Given the description of an element on the screen output the (x, y) to click on. 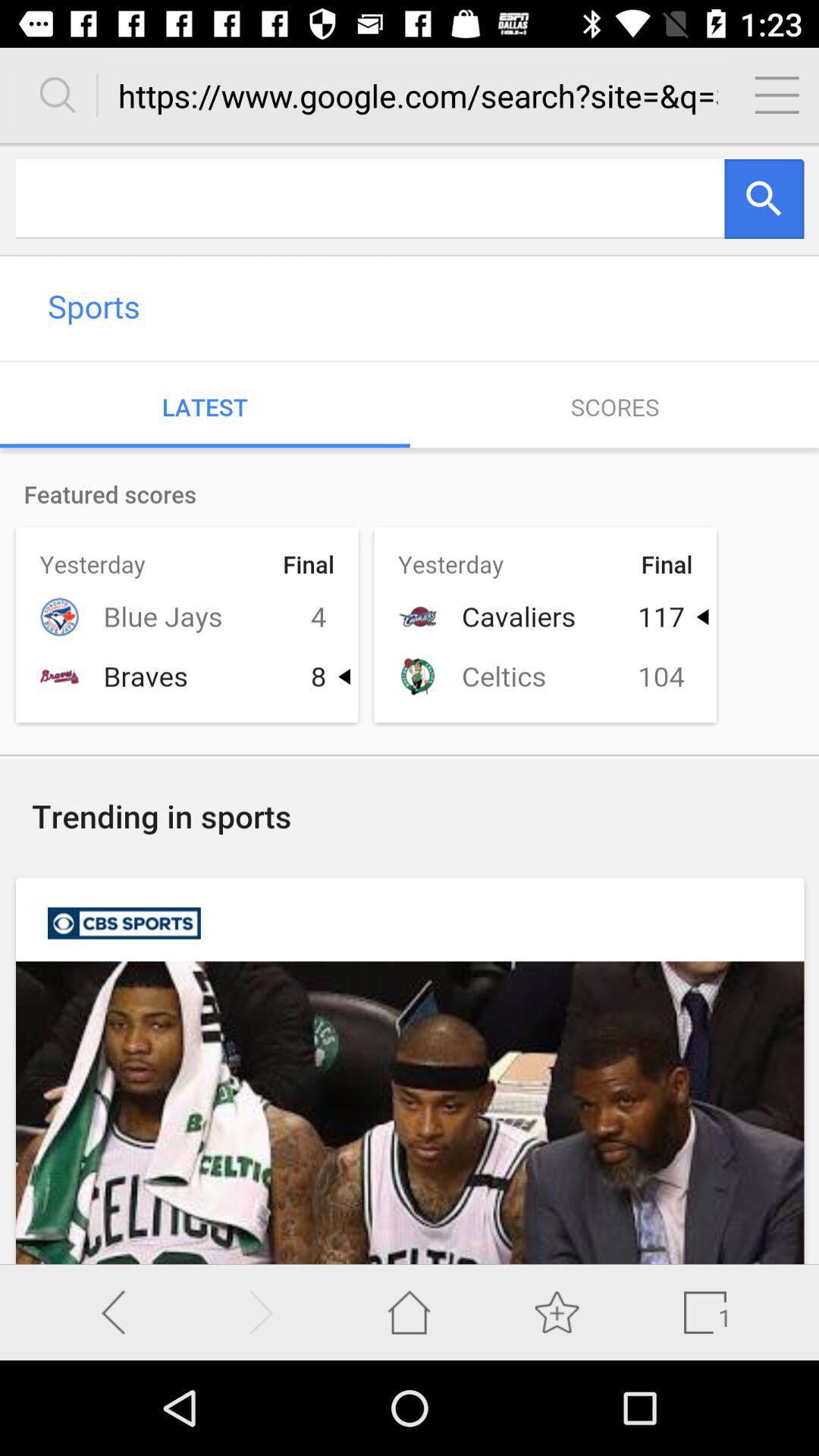
display screen (409, 703)
